Given the description of an element on the screen output the (x, y) to click on. 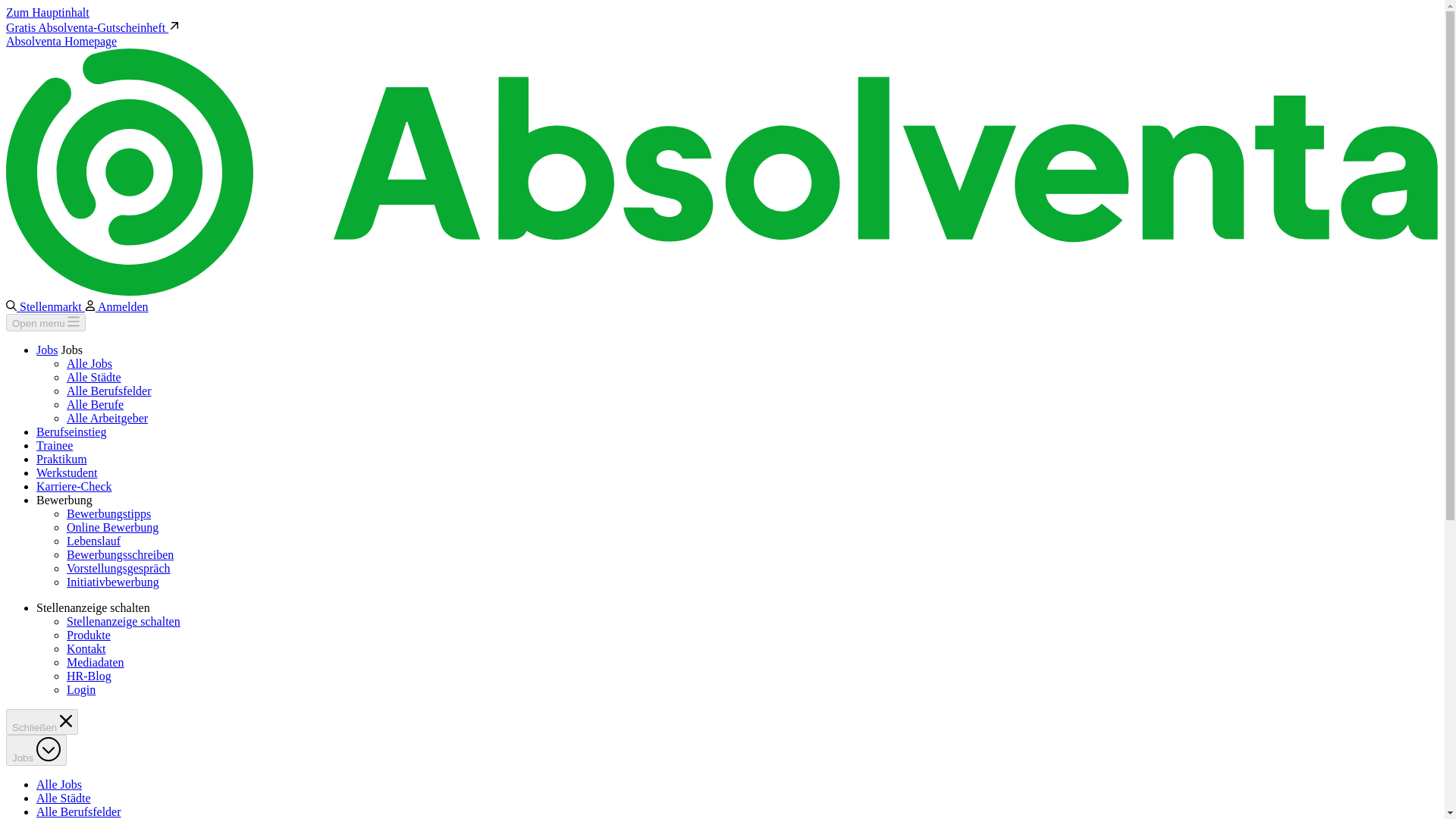
Jobs (47, 349)
Alle Jobs (58, 784)
Berufseinstieg (71, 431)
Alle Berufe (94, 404)
Mediadaten (94, 662)
Alle Berufsfelder (78, 811)
HR-Blog (89, 675)
Trainee (54, 445)
Jobs (35, 749)
Alle Arbeitgeber (107, 418)
